Given the description of an element on the screen output the (x, y) to click on. 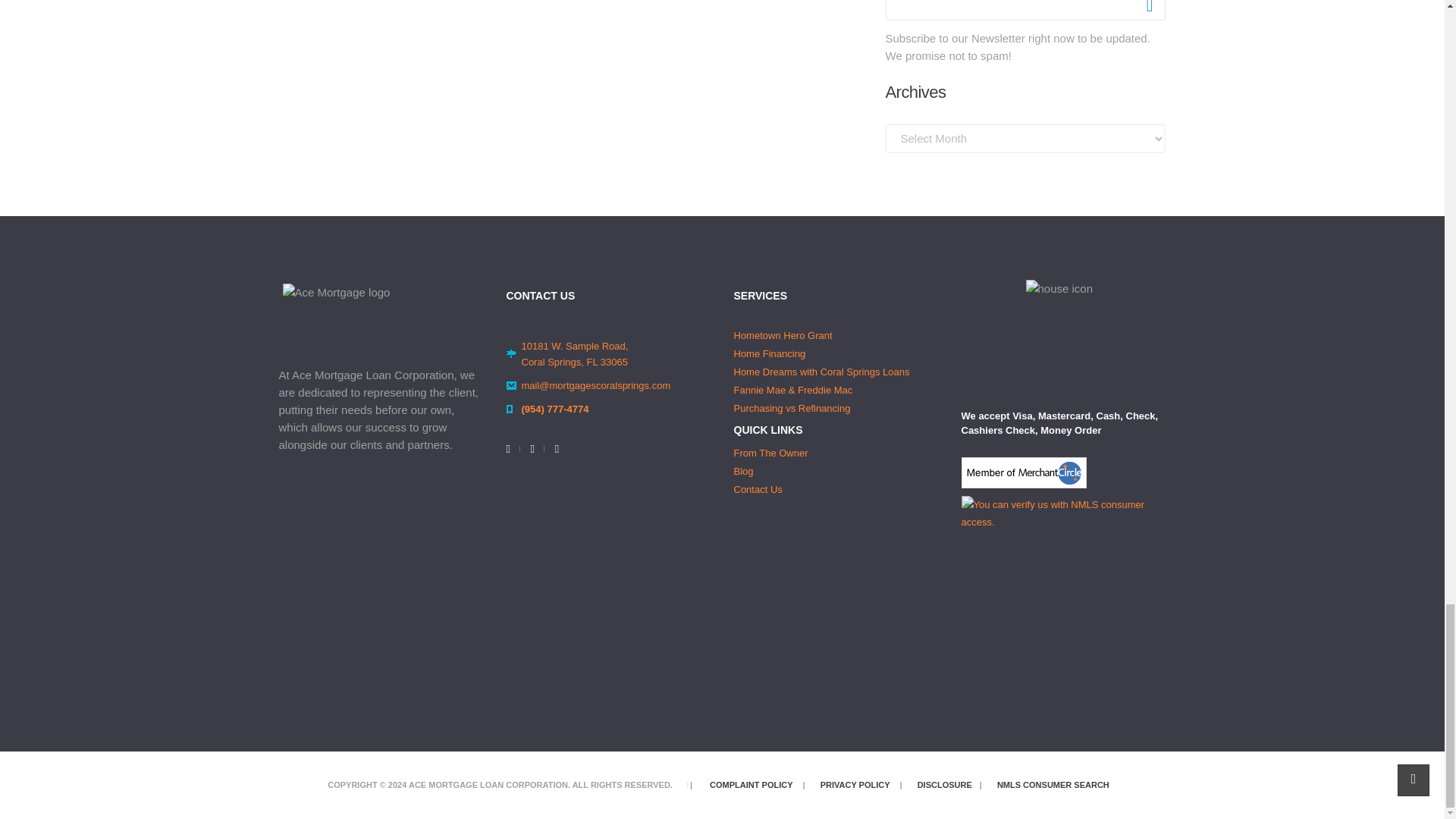
Subscribe (1148, 9)
Address (1063, 605)
